Given the description of an element on the screen output the (x, y) to click on. 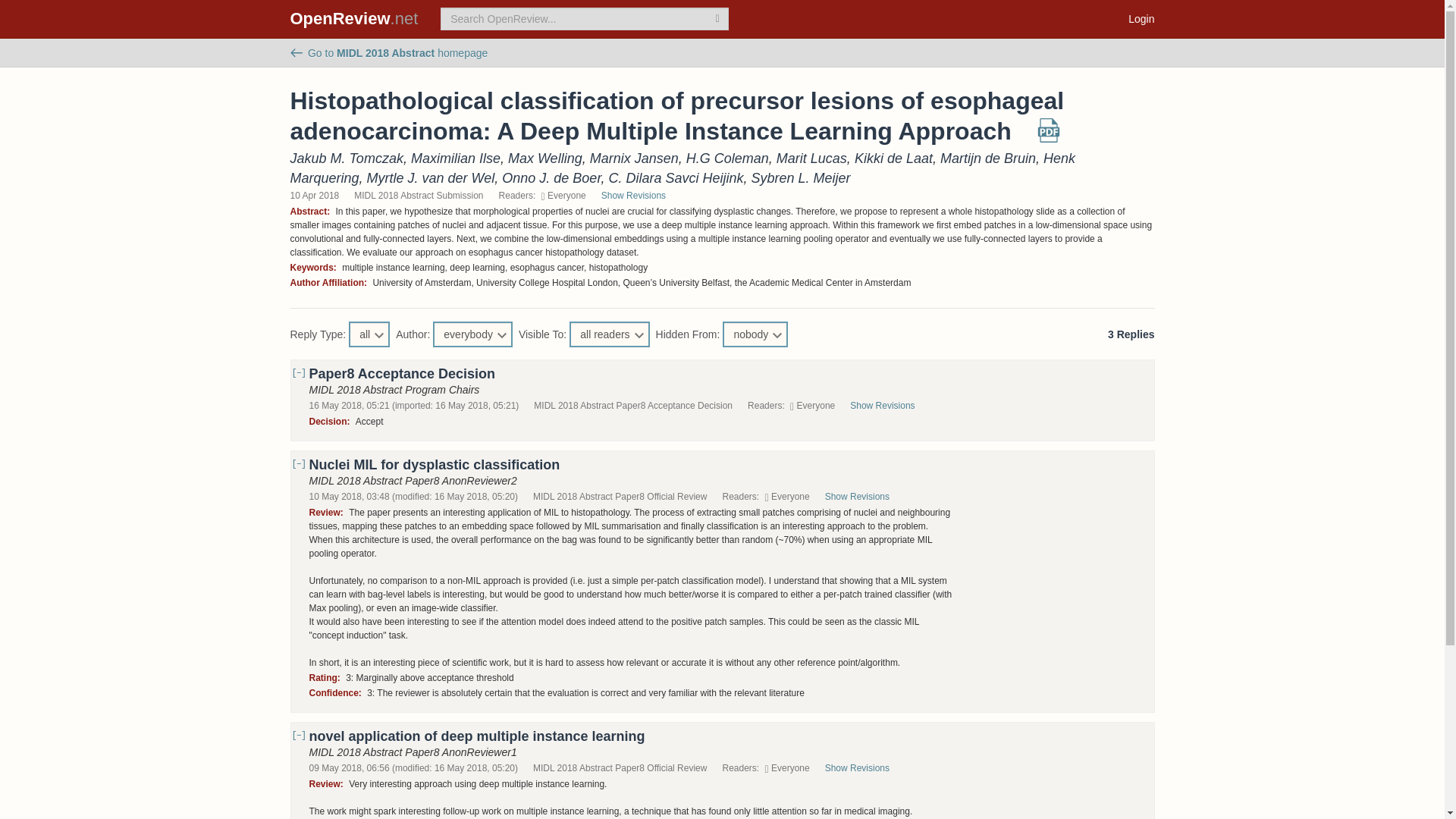
Sybren L. Meijer (800, 177)
Max Welling (545, 158)
Venue Homepage (388, 52)
Show Revisions (890, 405)
Download PDF (1048, 136)
Onno J. de Boer (550, 177)
Maximilian Ilse (455, 158)
all (369, 334)
C. Dilara Savci Heijink (675, 177)
H.G Coleman (726, 158)
